Given the description of an element on the screen output the (x, y) to click on. 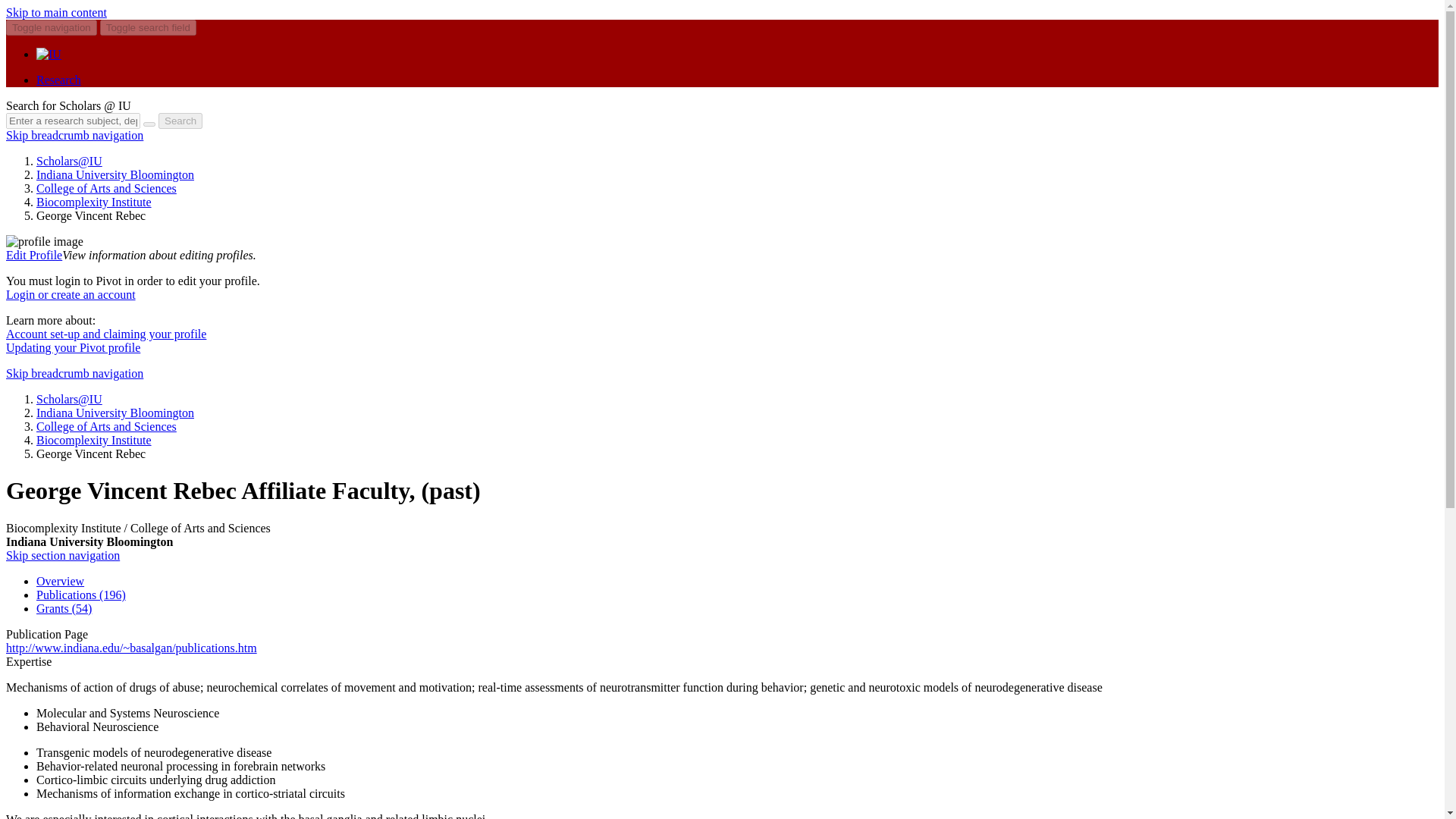
Indiana University Bloomington (114, 174)
Login or create an account (70, 294)
Toggle navigation (51, 27)
Skip to main content (55, 11)
Updating your Pivot profile (72, 347)
Toggle search field (148, 27)
Skip breadcrumb navigation (73, 134)
Skip breadcrumb navigation (73, 373)
College of Arts and Sciences (106, 426)
Edit Profile (33, 254)
